Given the description of an element on the screen output the (x, y) to click on. 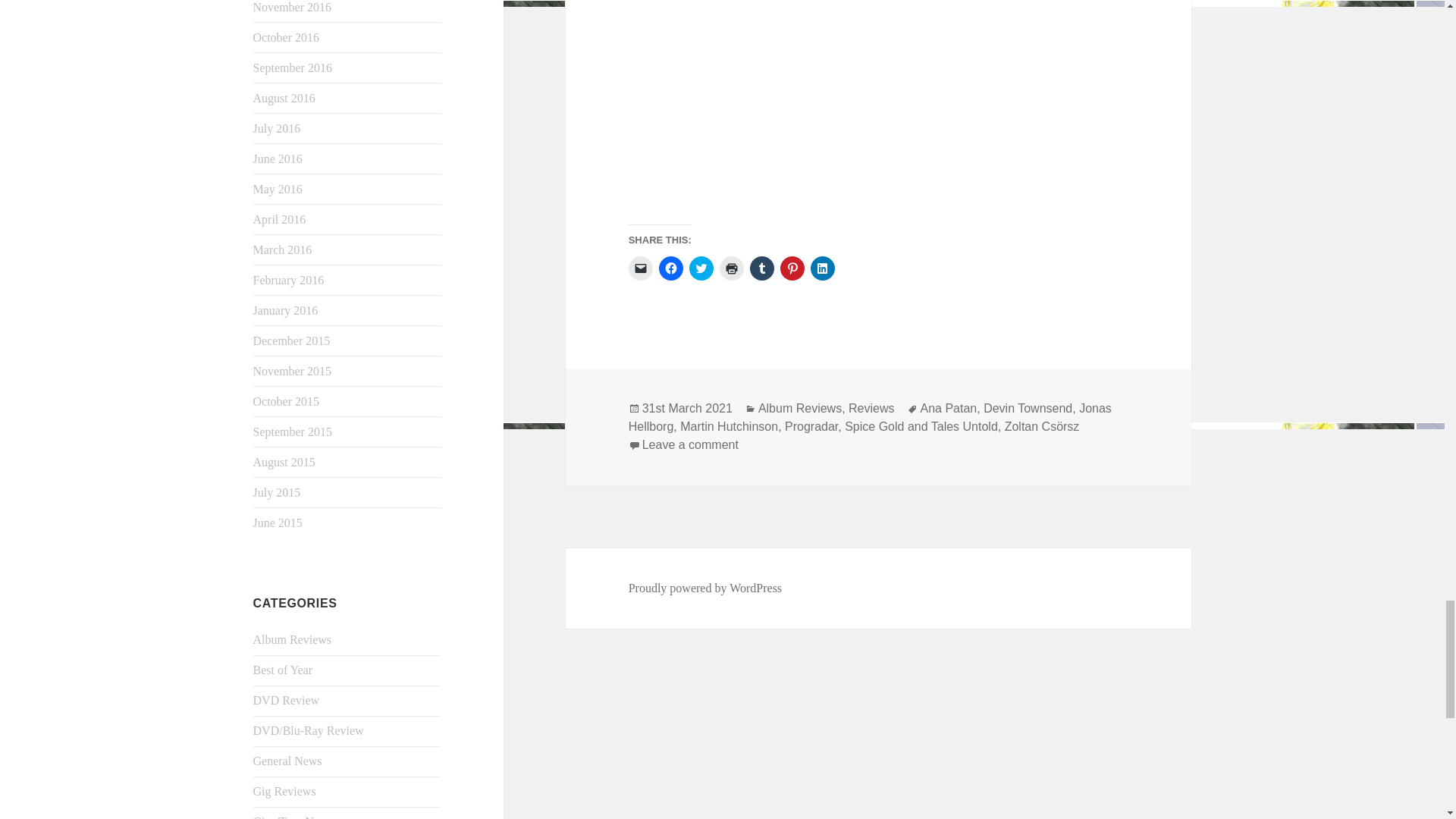
Click to share on Twitter (700, 268)
Click to share on LinkedIn (822, 268)
Click to share on Tumblr (761, 268)
Click to share on Pinterest (792, 268)
Click to share on Facebook (670, 268)
Click to print (731, 268)
Click to email a link to a friend (640, 268)
